Given the description of an element on the screen output the (x, y) to click on. 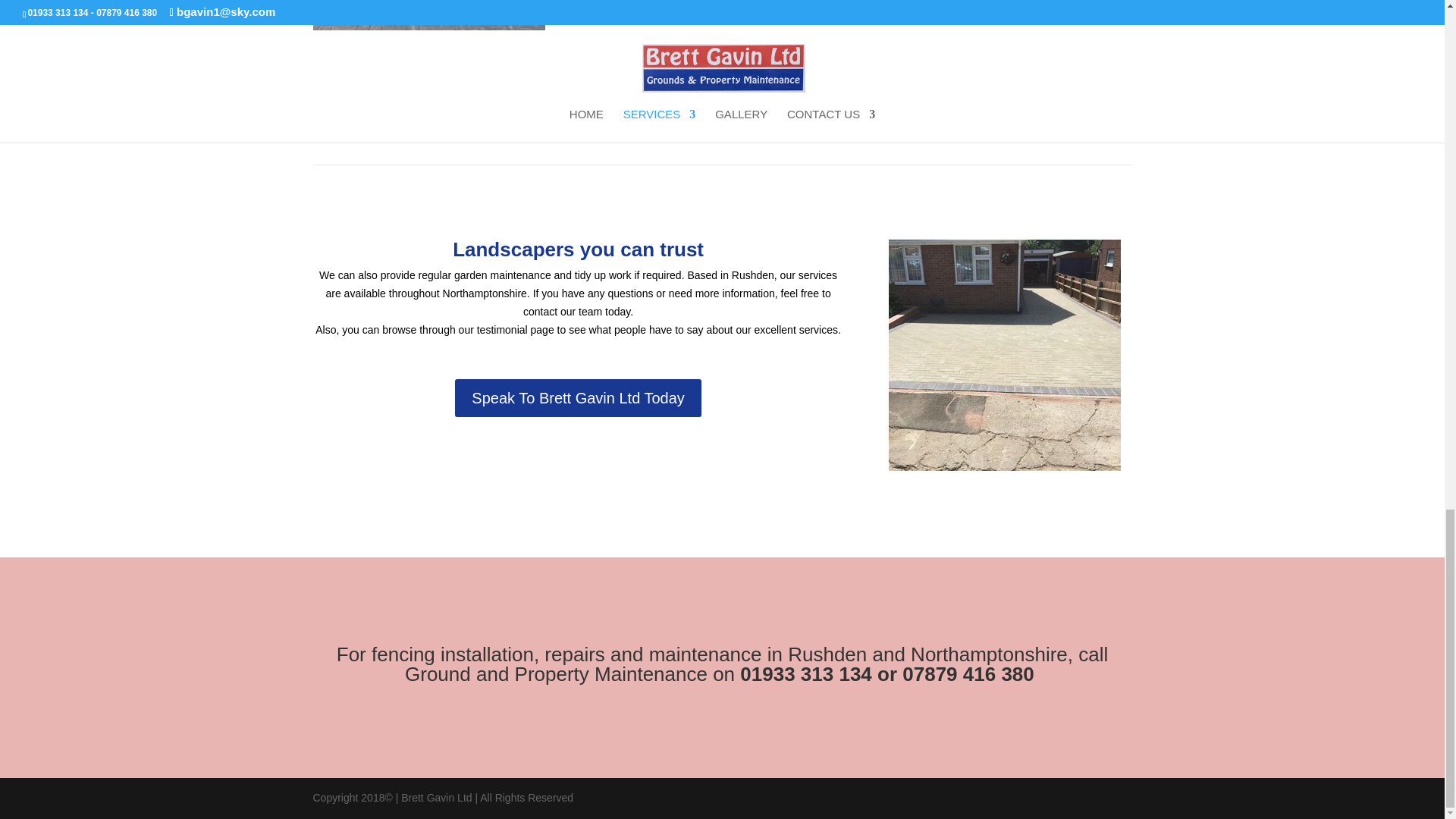
Speak To Brett Gavin Ltd Today (577, 397)
Find Out More (865, 87)
